Given the description of an element on the screen output the (x, y) to click on. 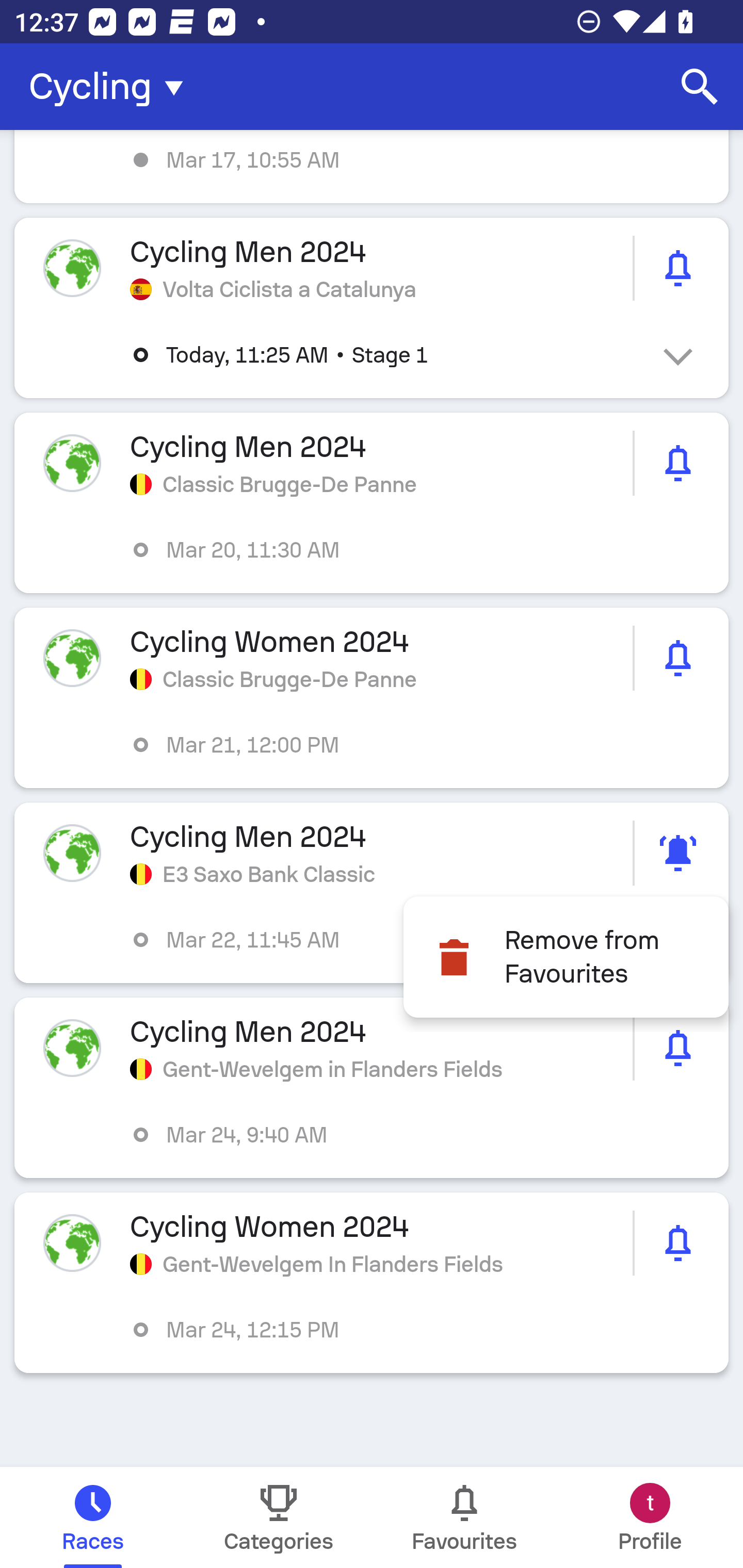
Remove from Favourites (565, 957)
